Given the description of an element on the screen output the (x, y) to click on. 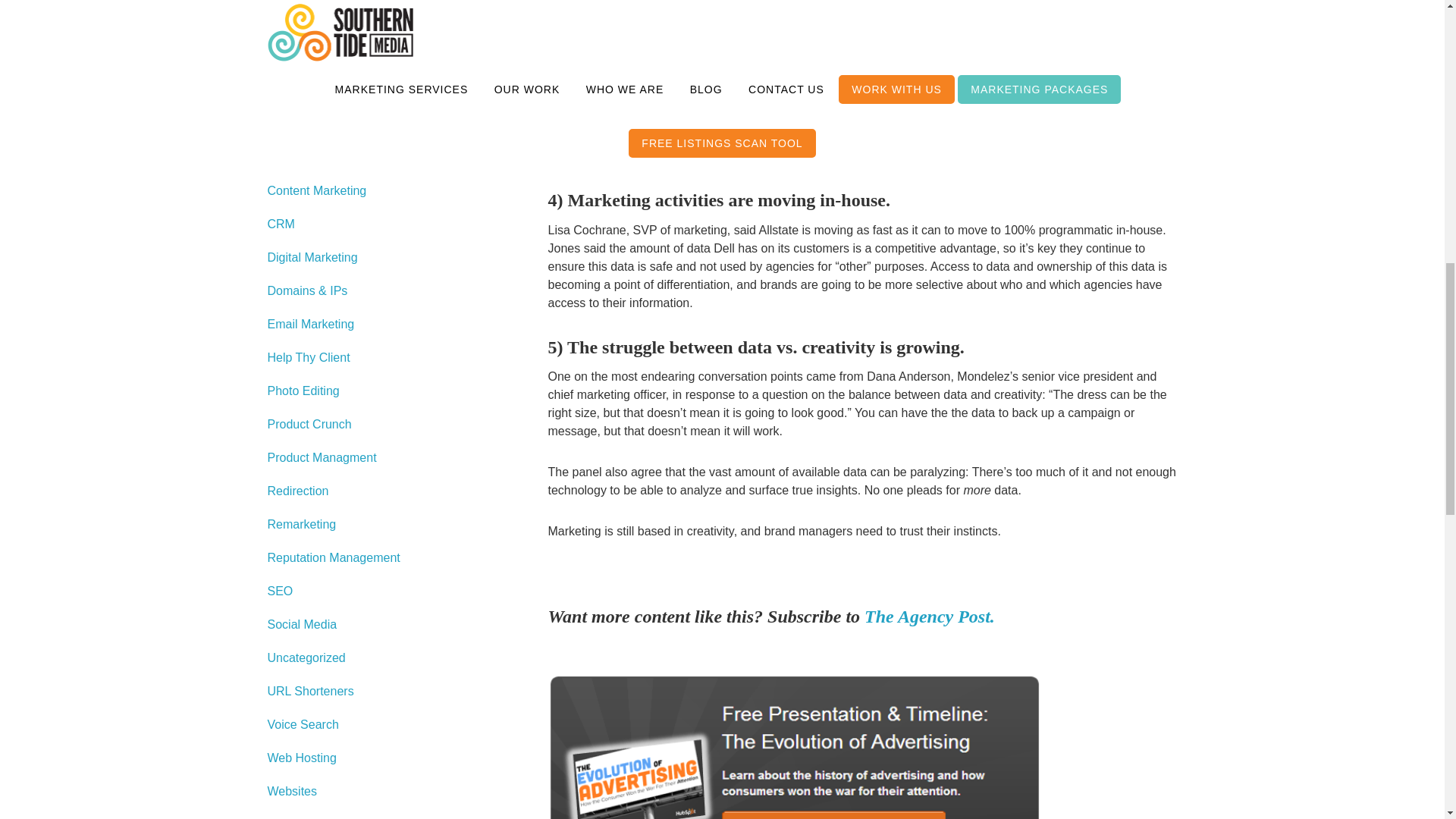
The Agency Post. (929, 616)
Branding (290, 23)
Cloud Services (307, 56)
Common Tasks (308, 90)
Company News (309, 123)
